Given the description of an element on the screen output the (x, y) to click on. 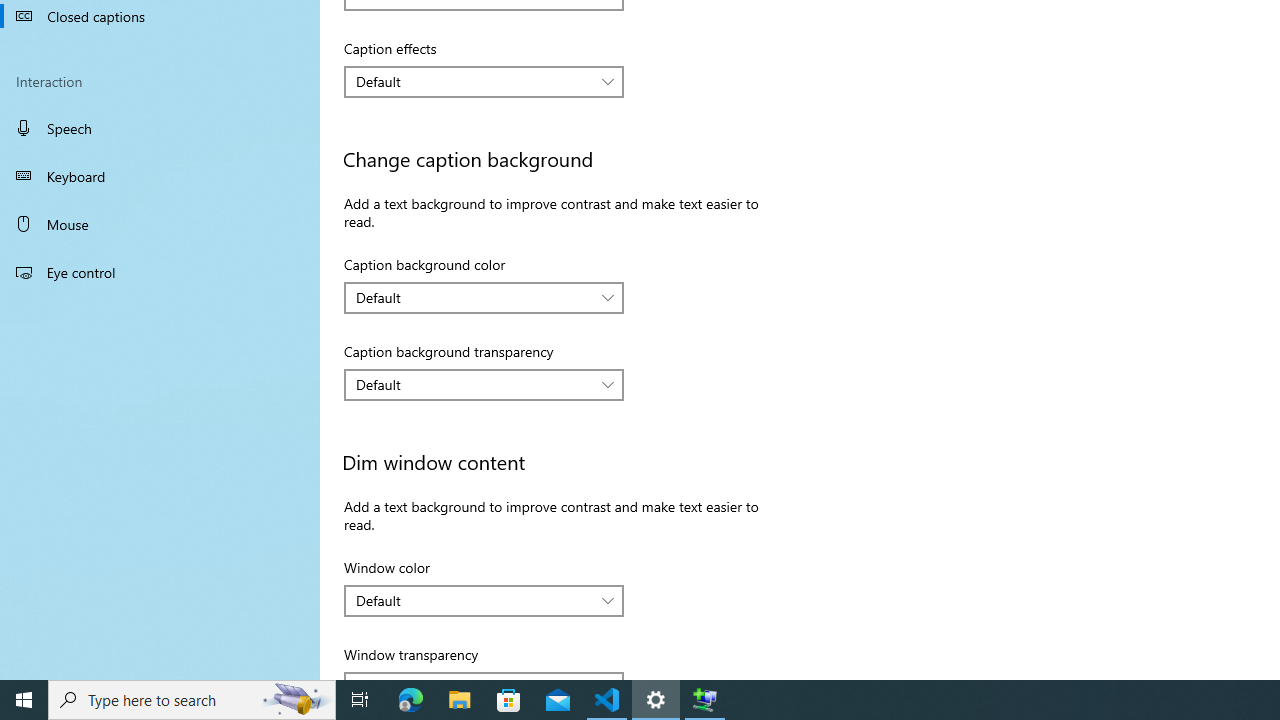
Caption effects (484, 81)
Keyboard (160, 175)
Eye control (160, 271)
